Given the description of an element on the screen output the (x, y) to click on. 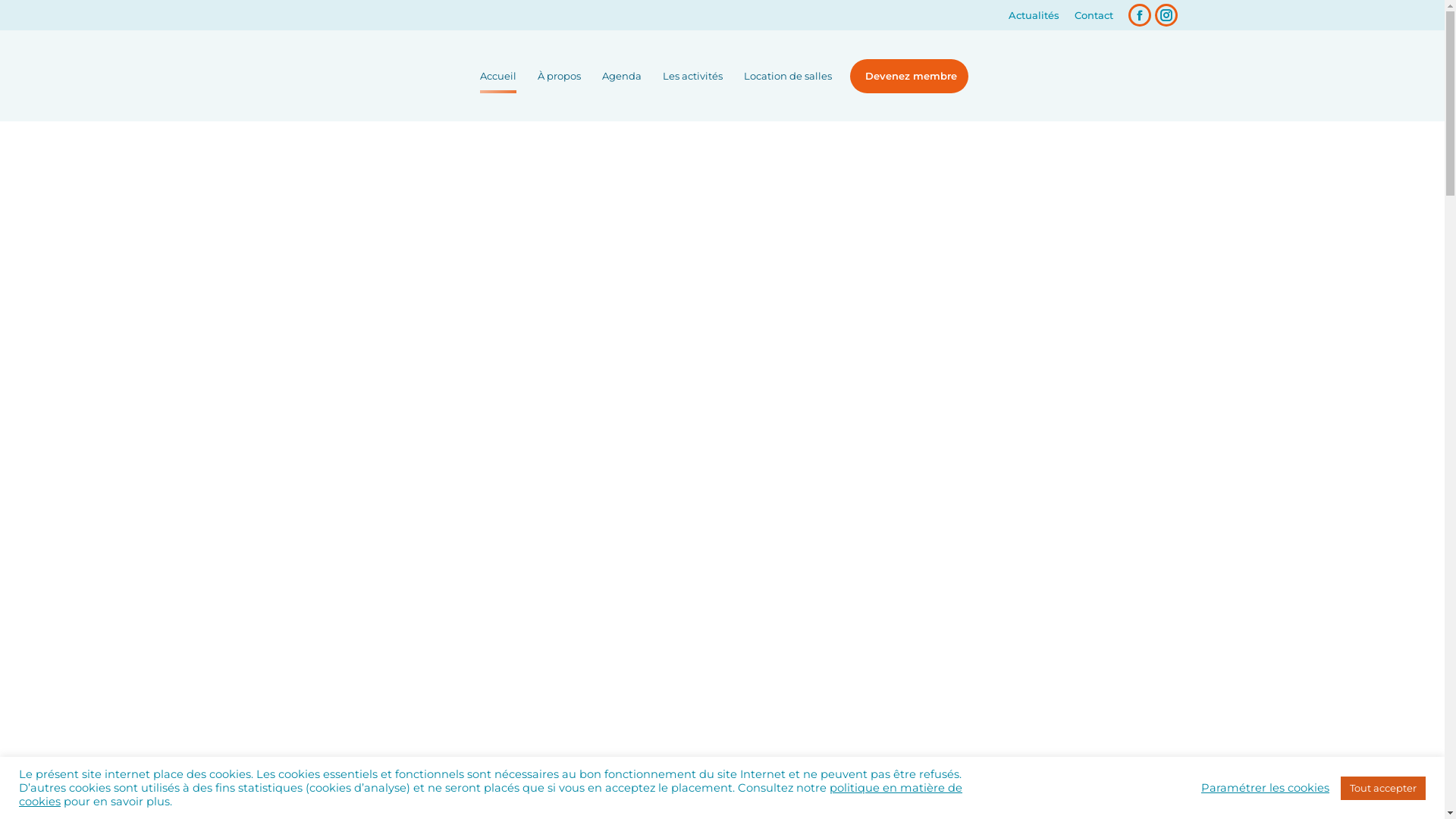
Devenez membre Element type: text (908, 76)
Contact Element type: text (1092, 14)
Accueil Element type: text (497, 76)
Facebook page opens in new window Element type: text (1139, 14)
Location de salles Element type: text (787, 76)
Agenda Element type: text (621, 76)
Instagram page opens in new window Element type: text (1165, 14)
Tout accepter Element type: text (1382, 788)
